Given the description of an element on the screen output the (x, y) to click on. 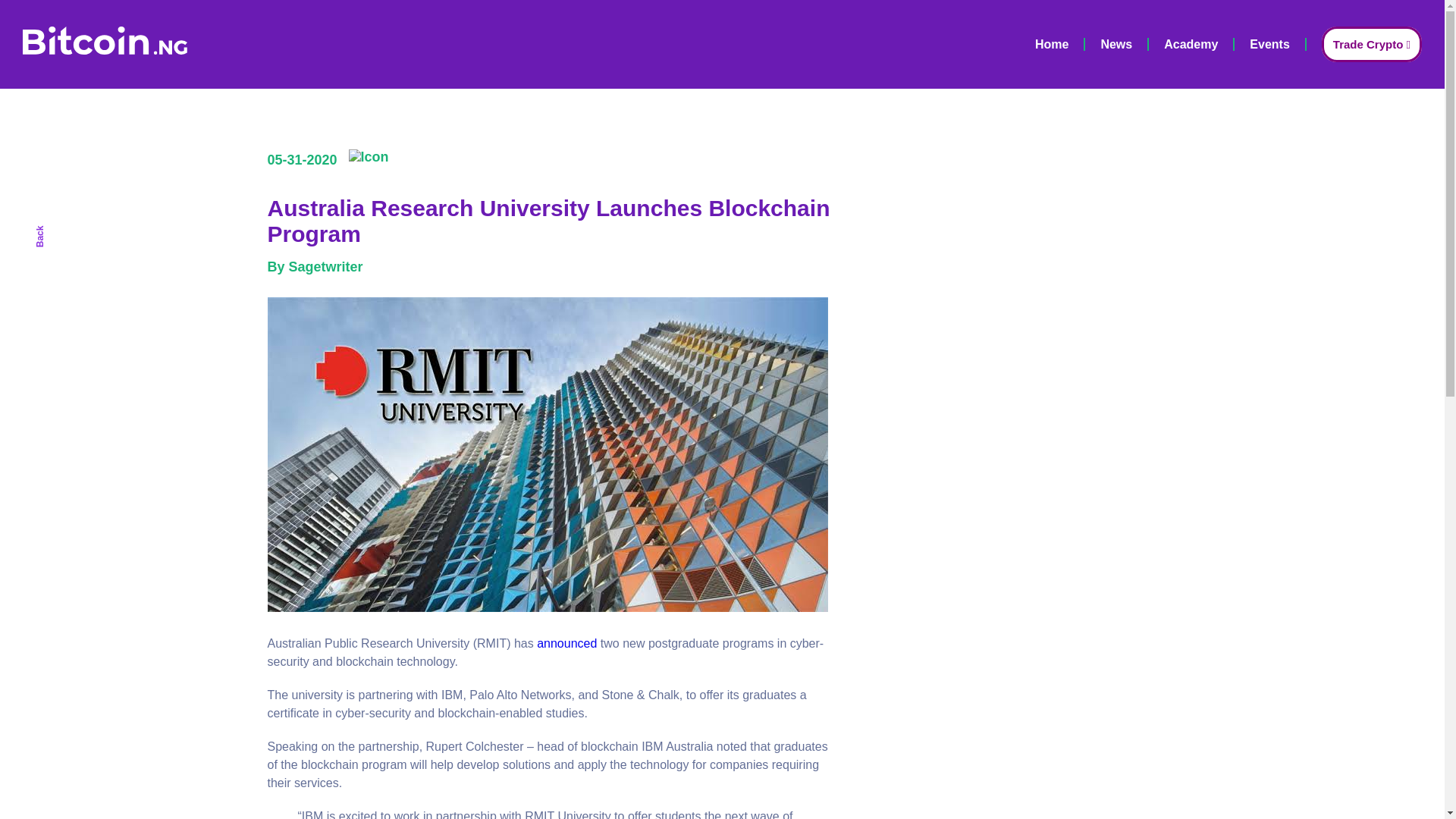
Home (1051, 45)
Academy (1190, 45)
Events (1268, 45)
announced (566, 643)
News (1116, 45)
